Given the description of an element on the screen output the (x, y) to click on. 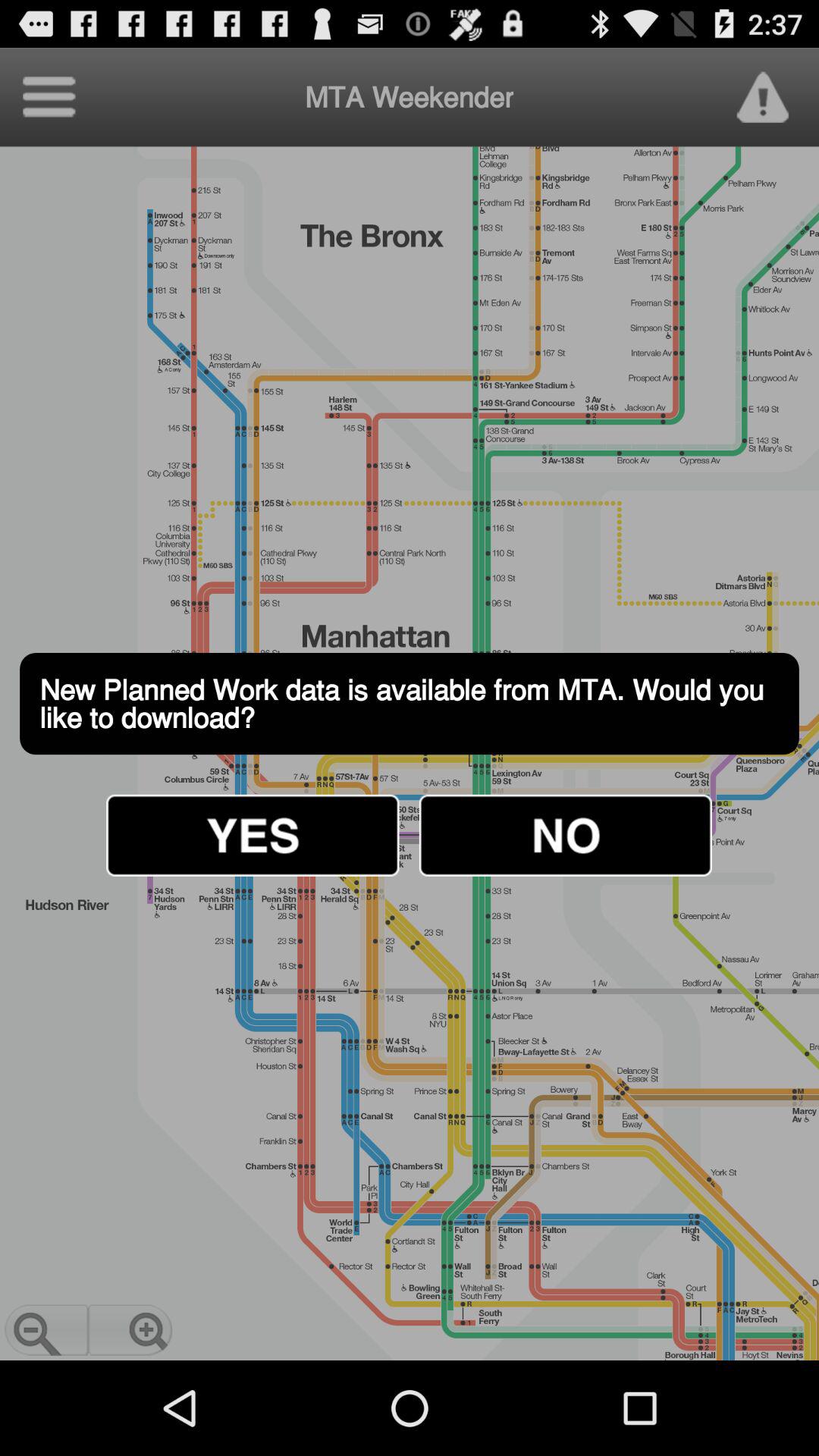
turn off the icon on the right (565, 835)
